Given the description of an element on the screen output the (x, y) to click on. 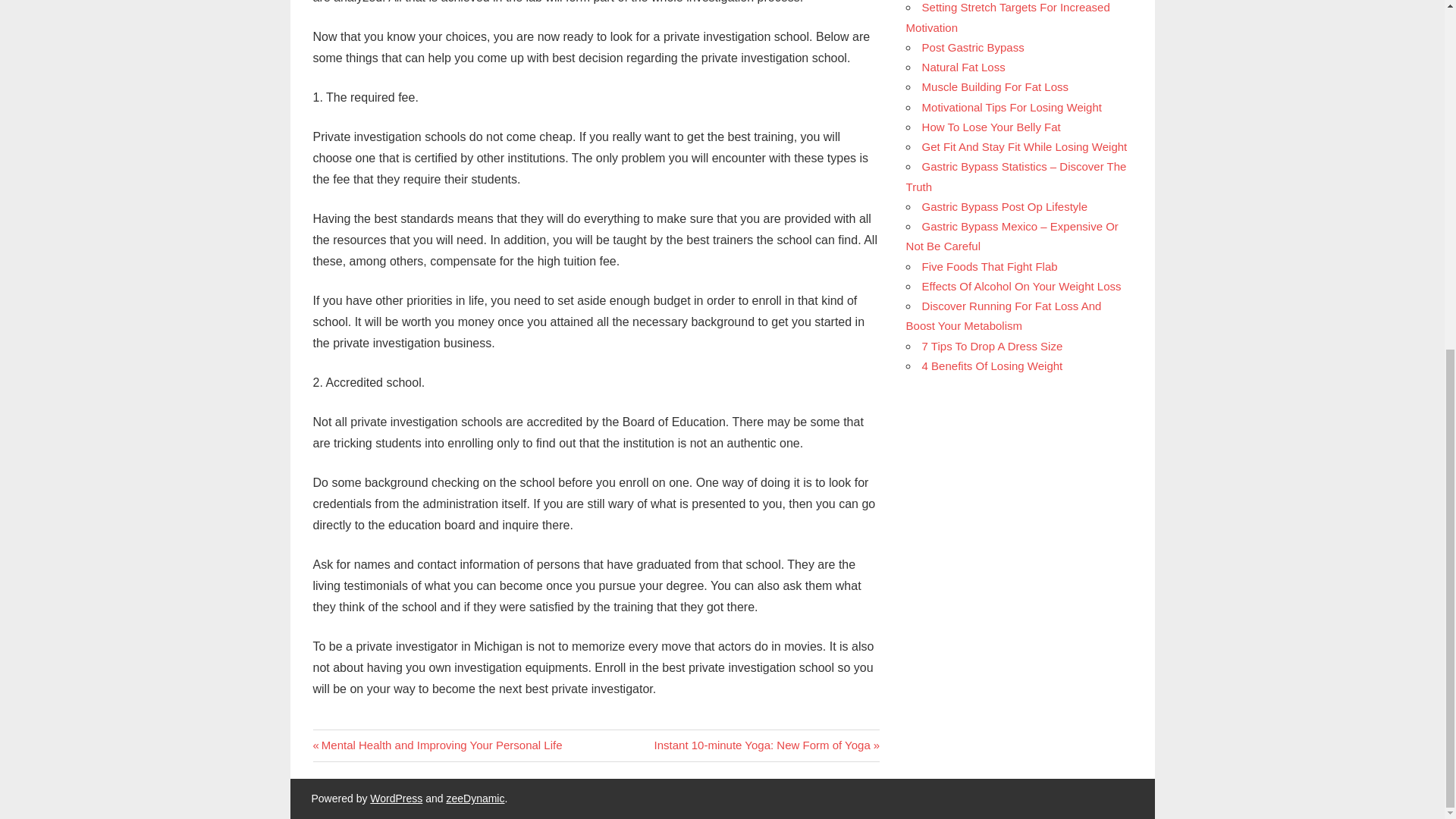
Setting Stretch Targets For Increased Motivation (1007, 16)
7 Tips To Drop A Dress Size (991, 345)
Post Gastric Bypass (973, 47)
zeeDynamic (474, 798)
WordPress (395, 798)
Get Fit And Stay Fit While Losing Weight (1023, 146)
Motivational Tips For Losing Weight (1011, 106)
Five Foods That Fight Flab (766, 744)
